Given the description of an element on the screen output the (x, y) to click on. 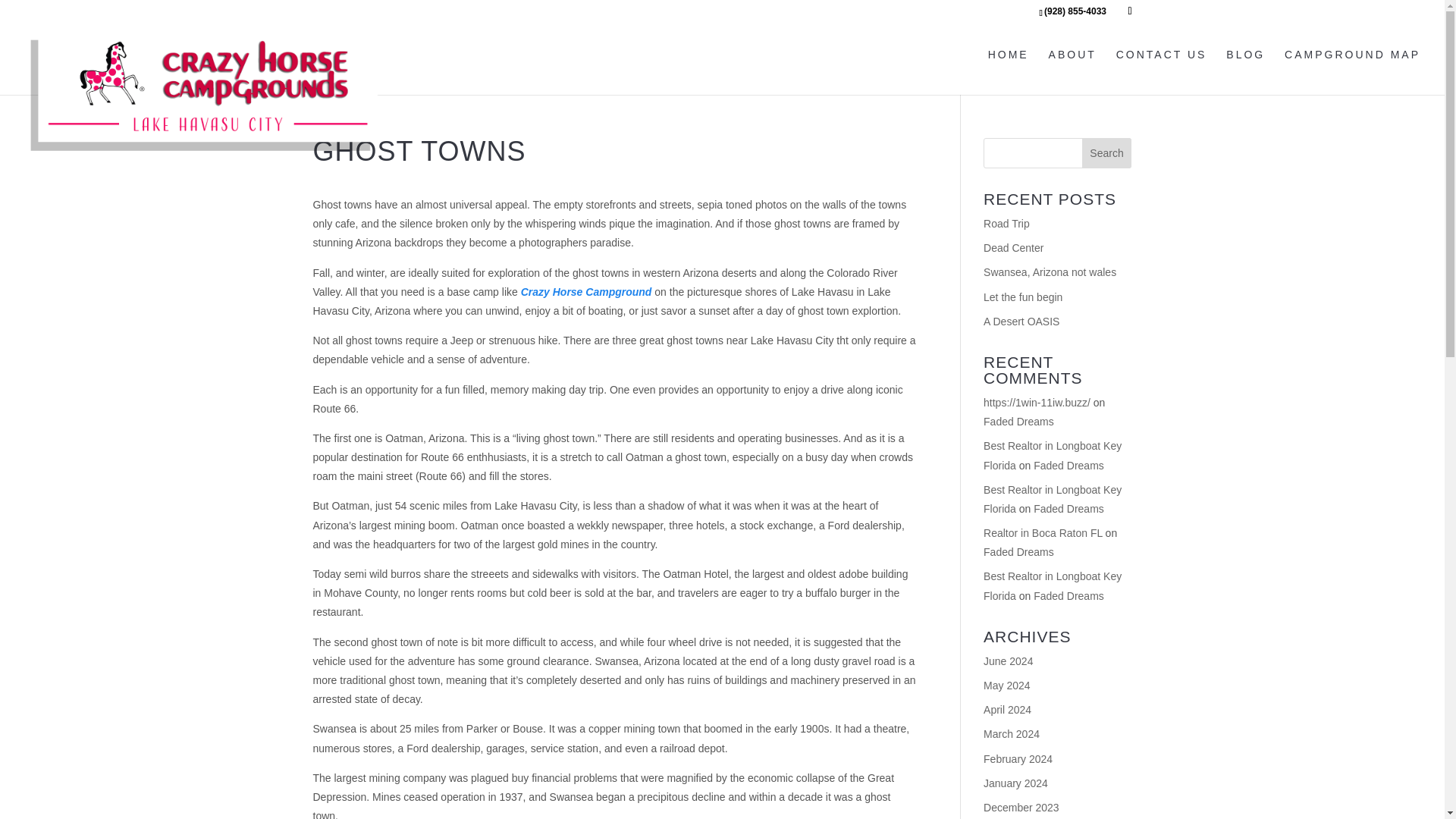
Search (1106, 153)
Crazy Horse Campground (588, 291)
A Desert OASIS (1021, 321)
Search (1106, 153)
December 2023 (1021, 807)
Faded Dreams (1019, 551)
Realtor in Boca Raton FL (1043, 532)
Best Realtor in Longboat Key Florida (1052, 454)
Let the fun begin (1023, 297)
March 2024 (1011, 734)
CONTACT US (1161, 70)
Best Realtor in Longboat Key Florida (1052, 585)
Faded Dreams (1068, 508)
Dead Center (1013, 247)
CAMPGROUND MAP (1352, 70)
